Given the description of an element on the screen output the (x, y) to click on. 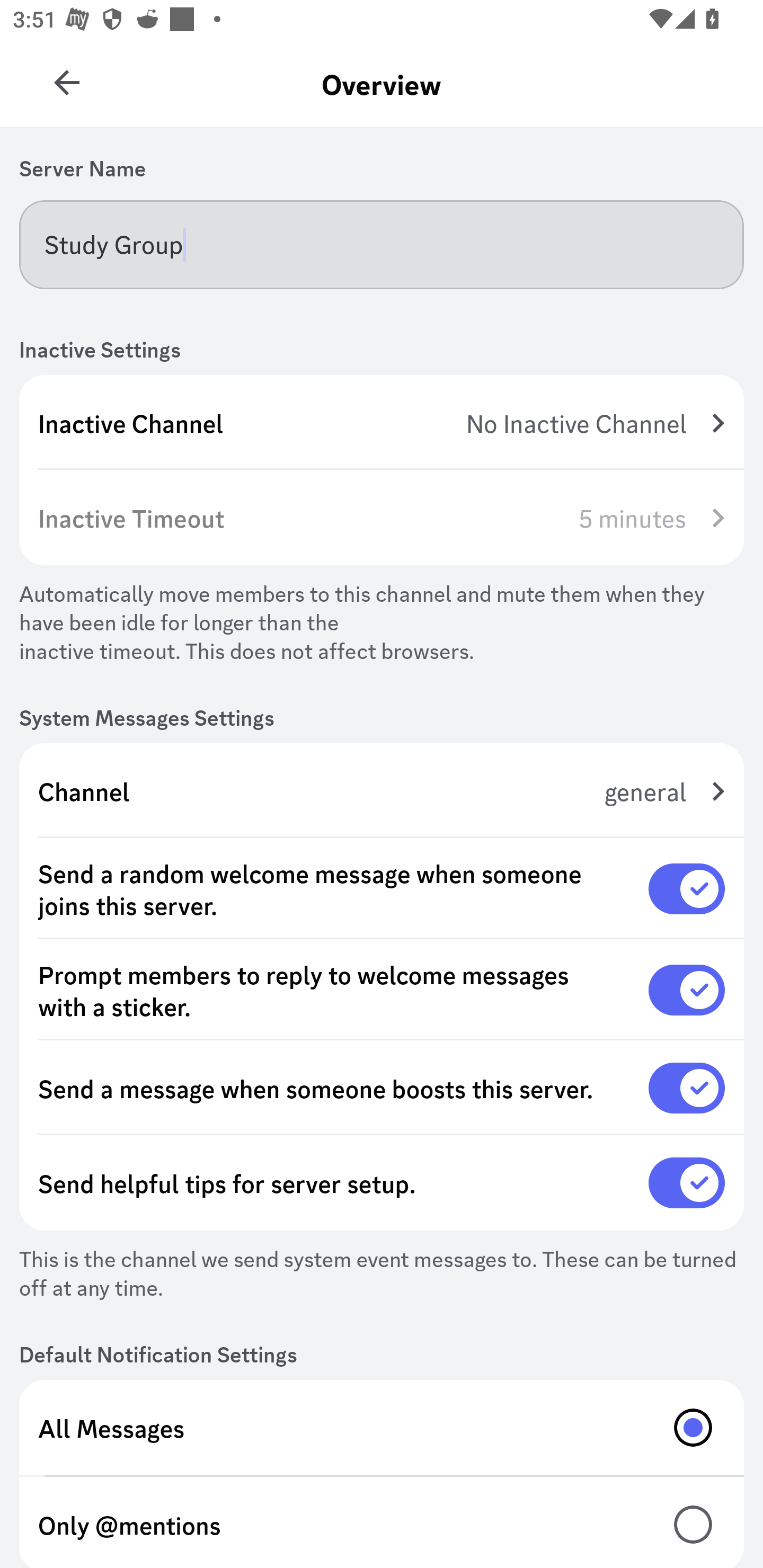
  Study Group SG (66, 75)
Study Group (381, 244)
Channel, general Channel general (381, 790)
on (686, 888)
on (686, 990)
on (686, 1088)
on (686, 1182)
All Messages (381, 1427)
Only @mentions (381, 1522)
